Given the description of an element on the screen output the (x, y) to click on. 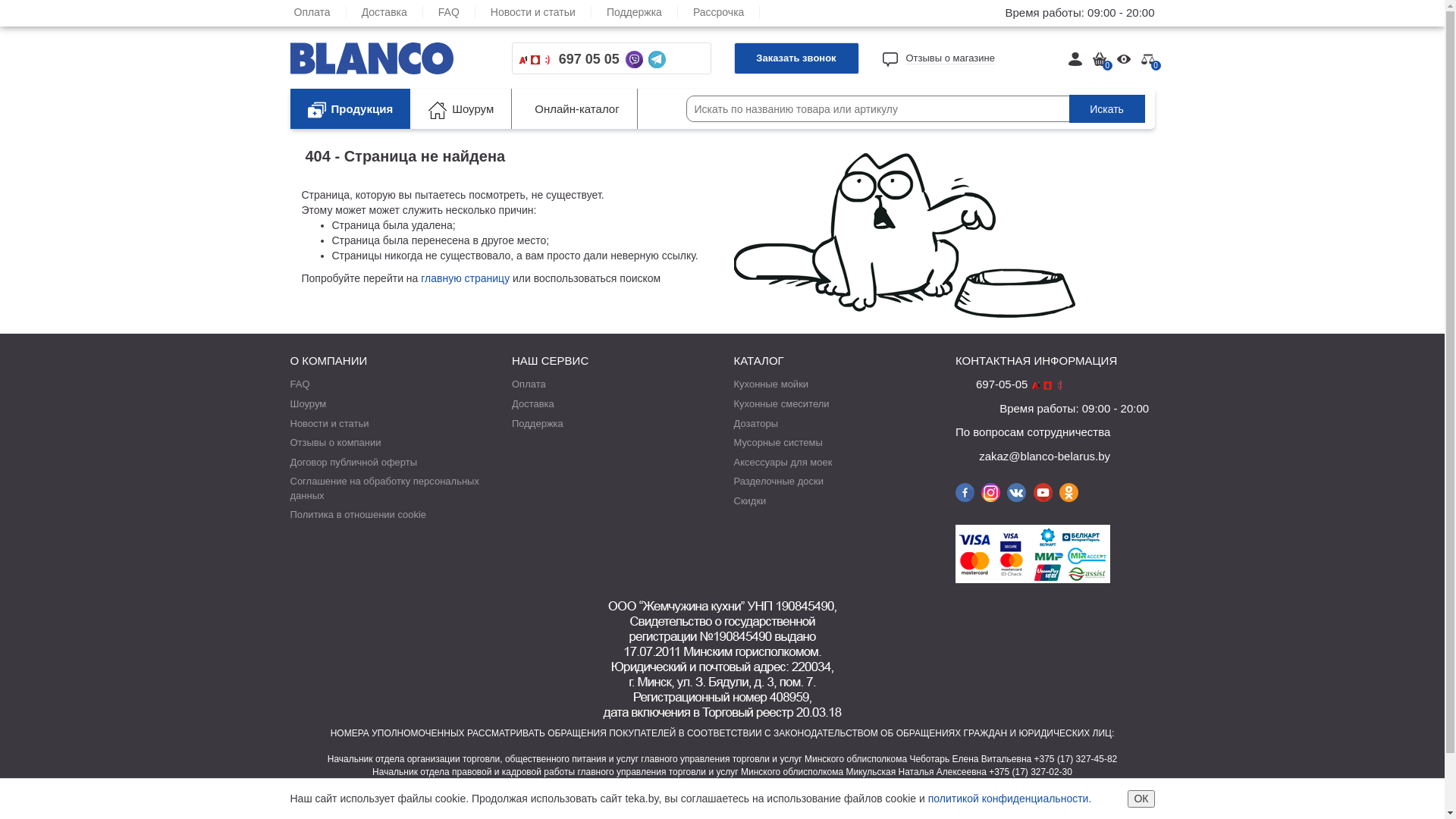
0 Element type: text (1099, 58)
FAQ Element type: text (299, 383)
697 05 05 Element type: text (589, 58)
FAQ Element type: text (456, 12)
0 Element type: text (1147, 58)
